Given the description of an element on the screen output the (x, y) to click on. 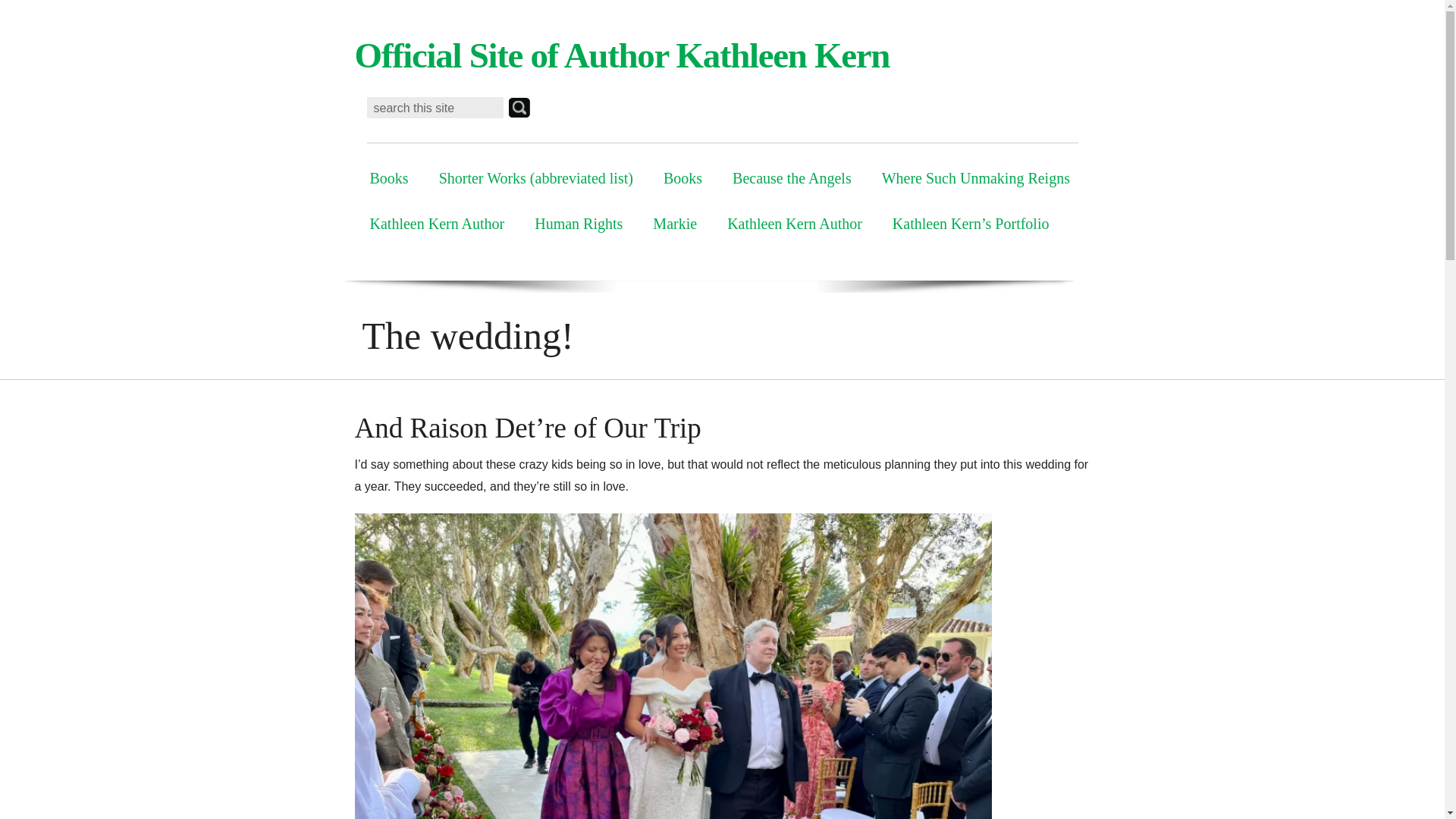
Where Such Unmaking Reigns (975, 177)
search this site (435, 108)
Kathleen Kern Author (794, 223)
Because the Angels (791, 177)
Limited Demographic Productions (622, 55)
Books (682, 177)
Kathleen Kern Author (437, 223)
Books (389, 177)
Markie (674, 223)
Official Site of Author Kathleen Kern (622, 55)
